Given the description of an element on the screen output the (x, y) to click on. 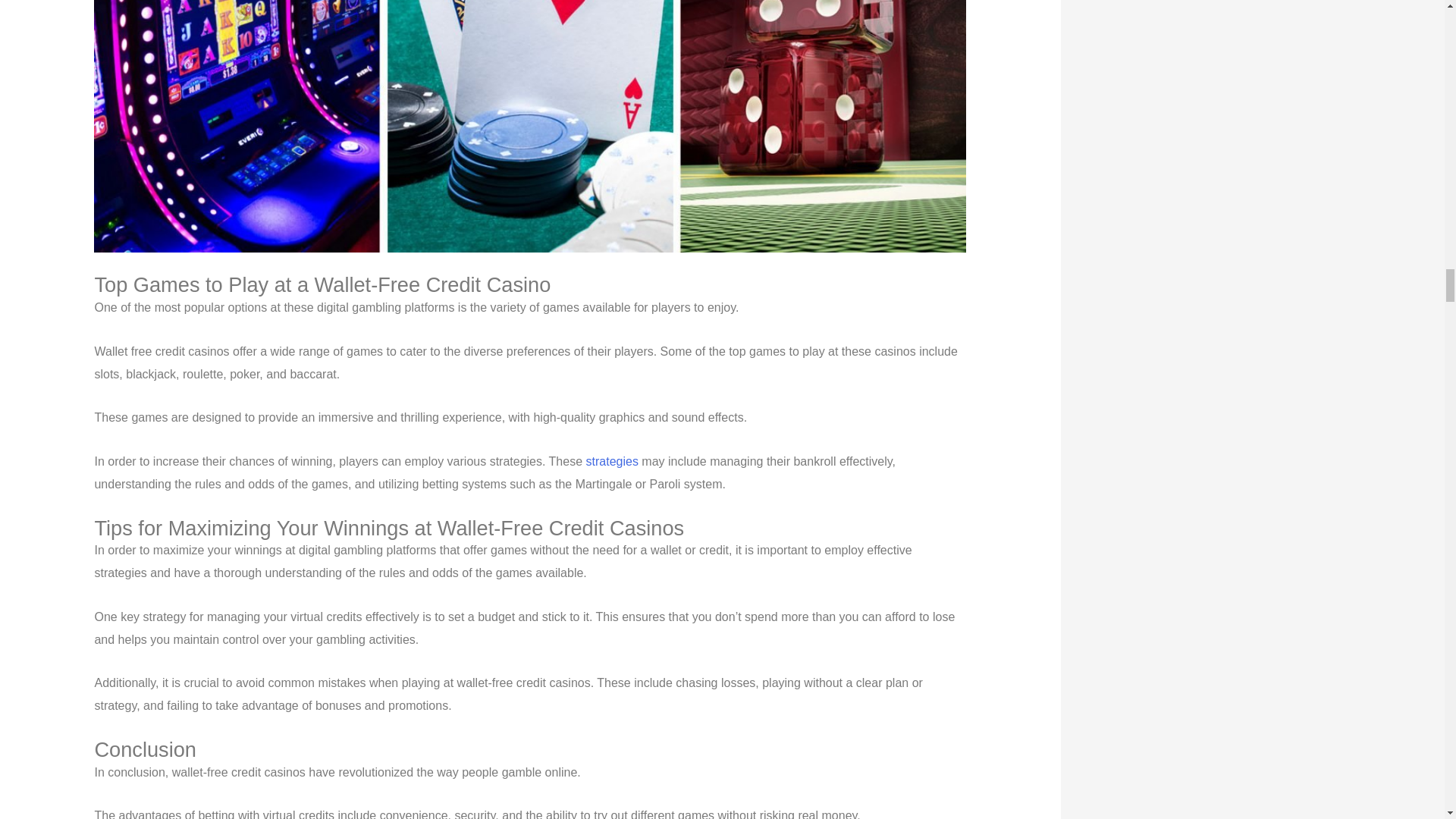
strategies (612, 461)
